Given the description of an element on the screen output the (x, y) to click on. 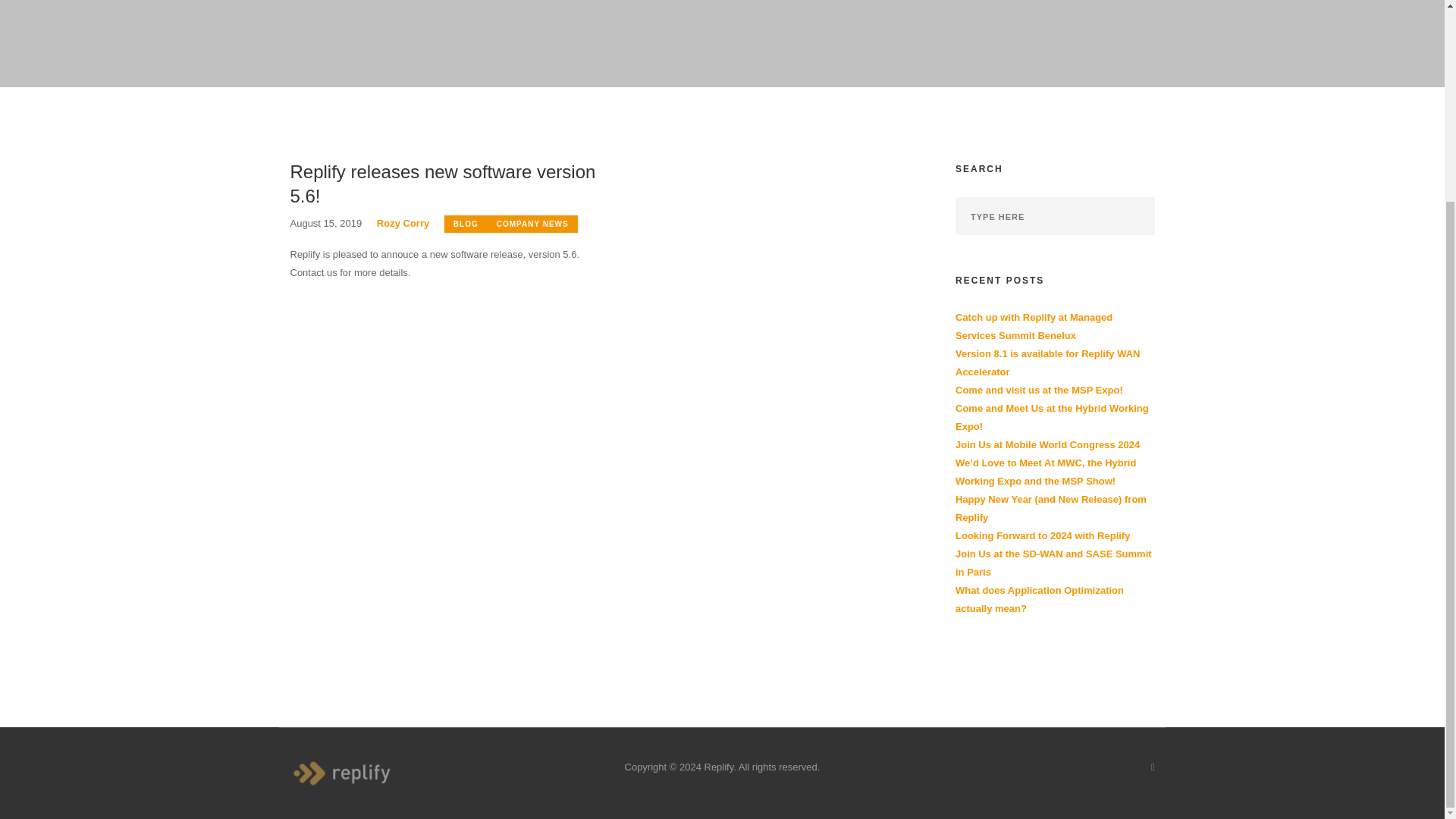
Looking Forward to 2024 with Replify (1042, 535)
Version 8.1 is available for Replify WAN Accelerator (1047, 362)
Catch up with Replify at Managed Services Summit Benelux (1033, 326)
Join Us at the SD-WAN and SASE Summit in Paris (1053, 562)
Come and visit us at the MSP Expo! (1038, 389)
Join Us at Mobile World Congress 2024 (1047, 444)
Rozy Corry (403, 223)
What does Application Optimization actually mean? (1039, 599)
Posts by Rozy Corry (403, 223)
COMPANY NEWS (532, 224)
BLOG (465, 224)
Come and Meet Us at the Hybrid Working Expo! (1051, 417)
Replify releases new software version 5.6! (444, 183)
